Given the description of an element on the screen output the (x, y) to click on. 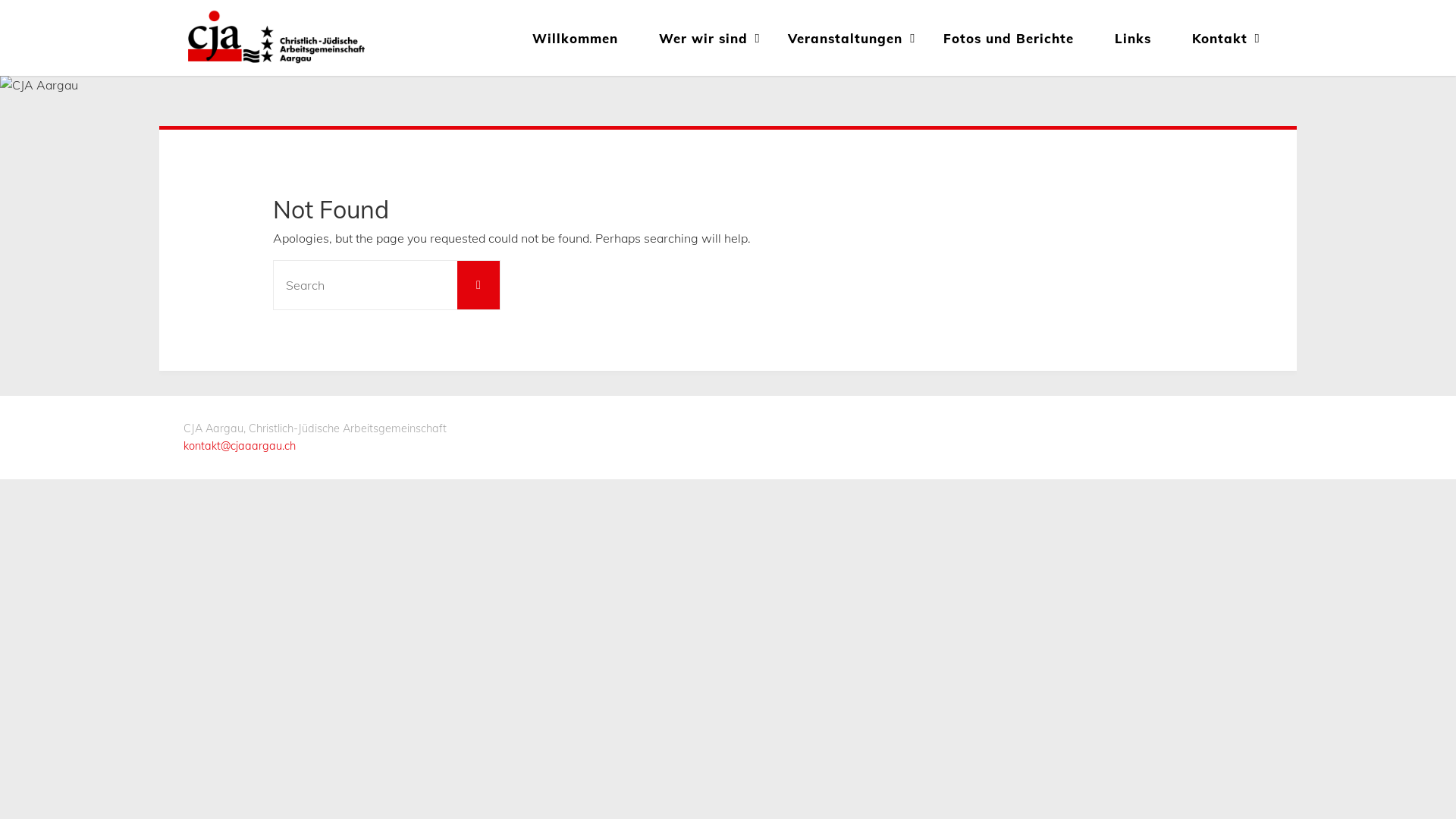
Veranstaltungen Element type: text (845, 37)
CJA Aargau Element type: hover (276, 37)
Fotos und Berichte Element type: text (1008, 37)
Willkommen Element type: text (574, 37)
Links Element type: text (1132, 37)
Wer wir sind Element type: text (703, 37)
Kontakt Element type: text (1219, 37)
kontakt@cjaaargau.ch Element type: text (239, 445)
Search Element type: text (478, 284)
